Given the description of an element on the screen output the (x, y) to click on. 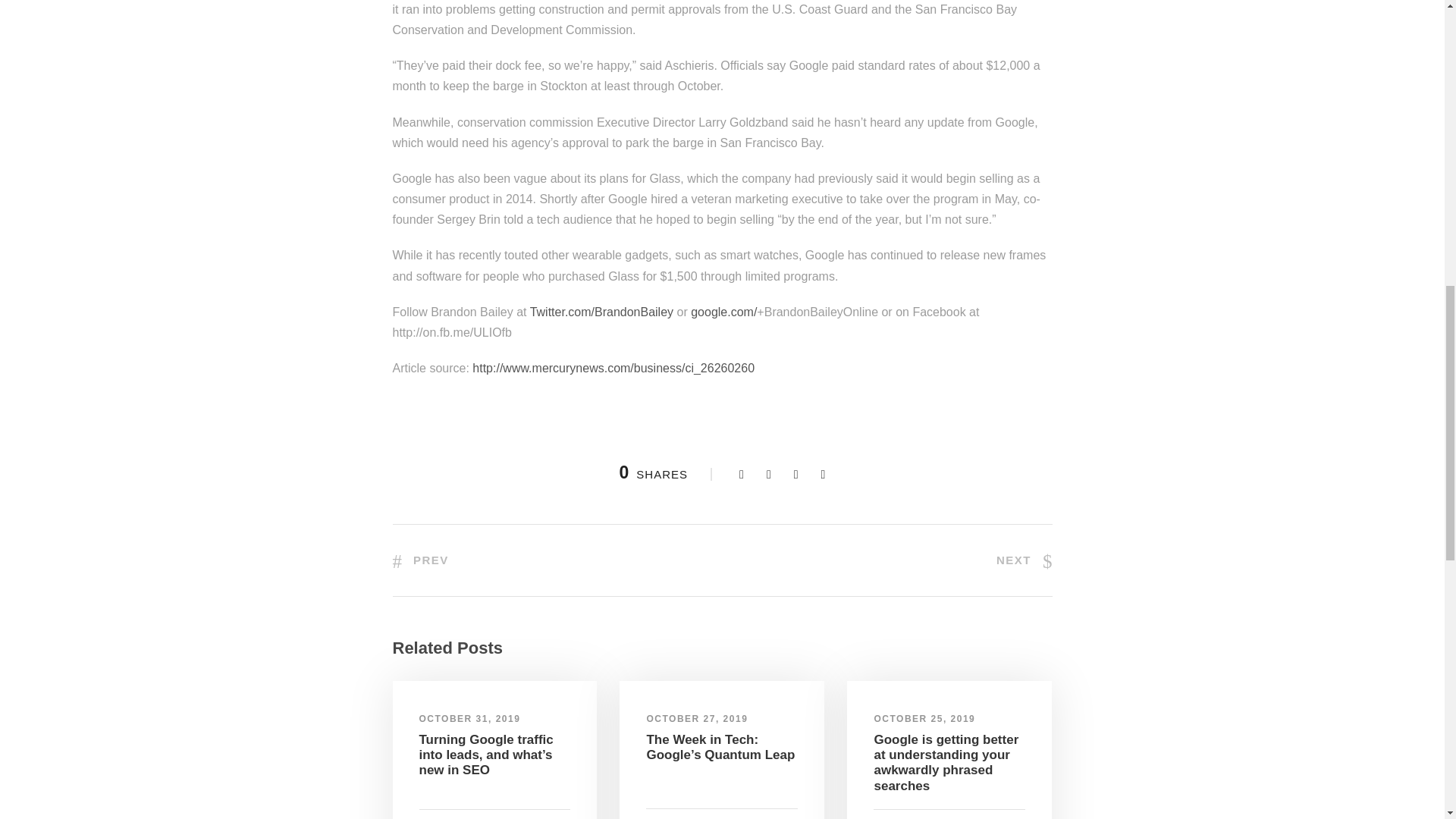
OCTOBER 31, 2019 (469, 718)
OCTOBER 25, 2019 (924, 718)
OCTOBER 27, 2019 (697, 718)
PREV (420, 559)
NEXT (1023, 559)
